Given the description of an element on the screen output the (x, y) to click on. 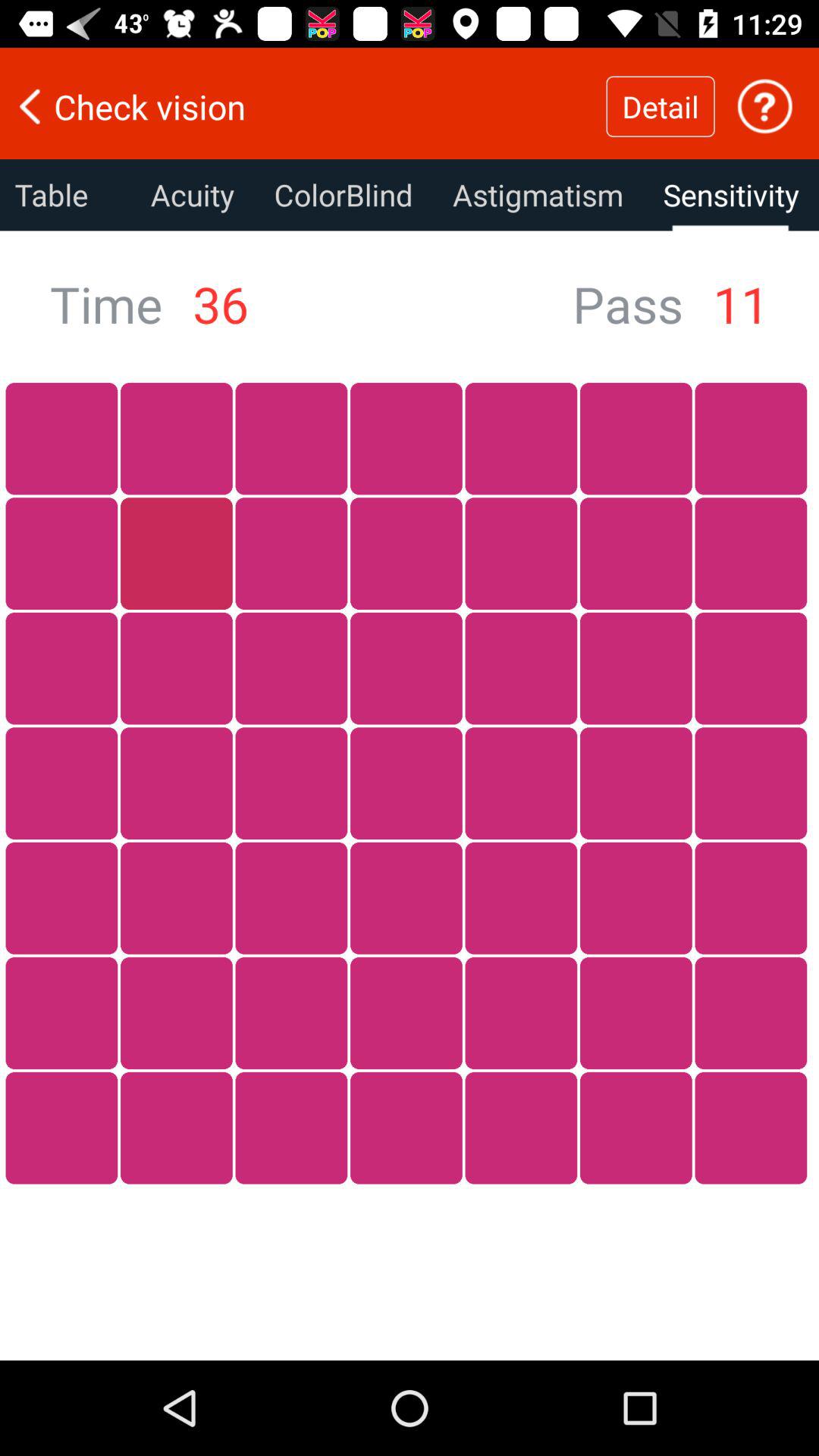
click icon to the left of the acuity (65, 194)
